Given the description of an element on the screen output the (x, y) to click on. 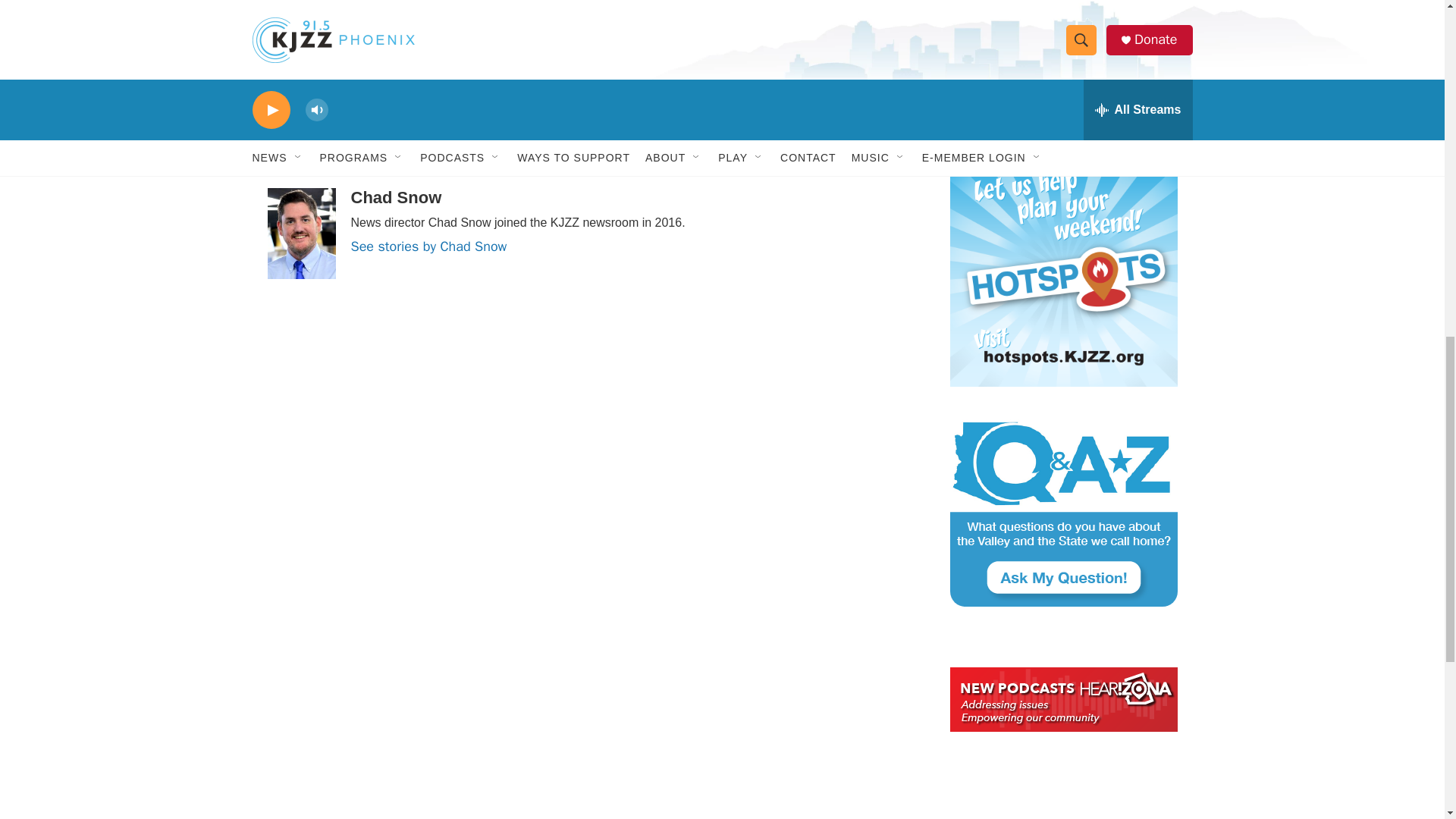
Subscribe to our newsletters (1062, 64)
